Given the description of an element on the screen output the (x, y) to click on. 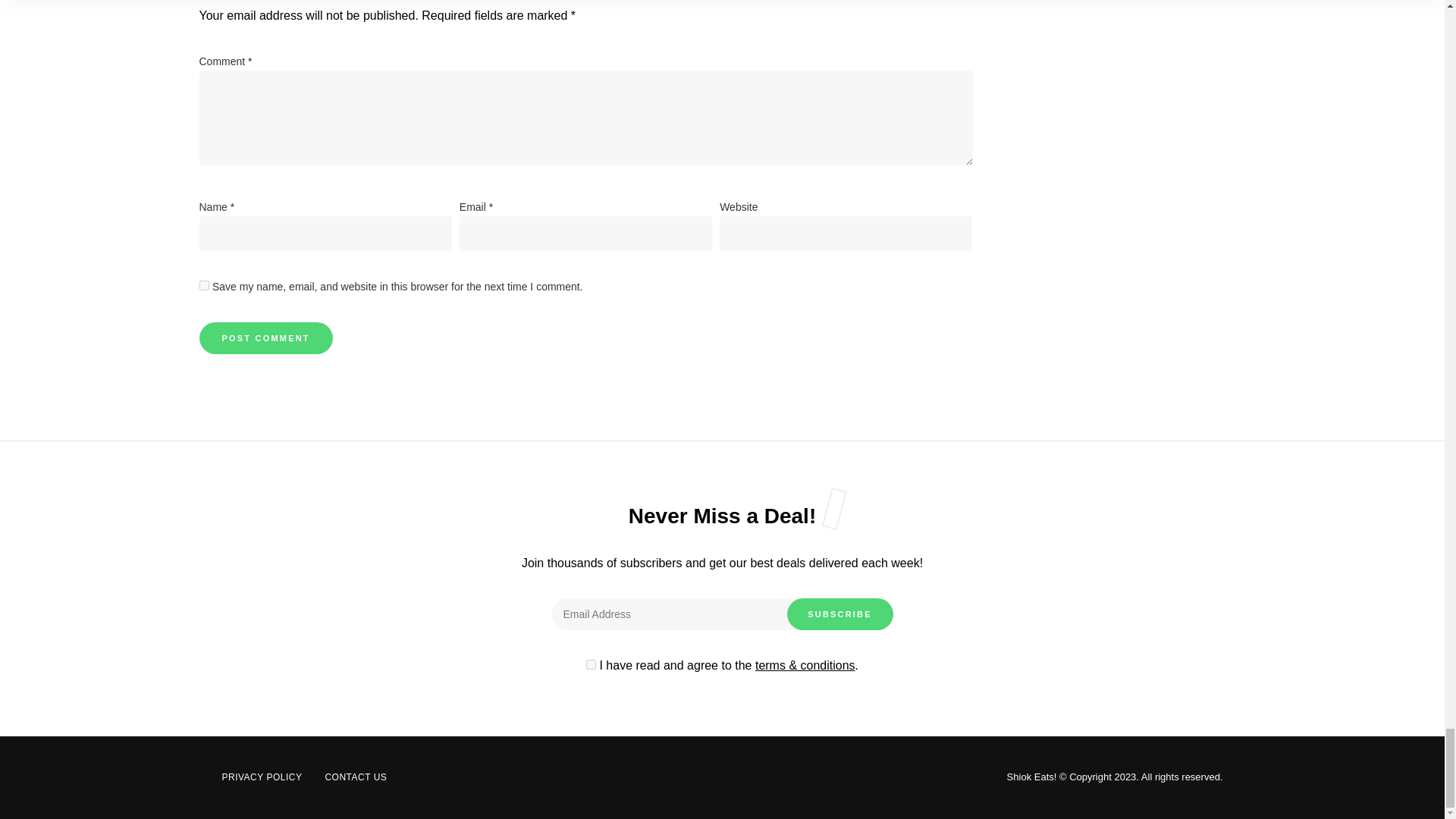
yes (203, 285)
Subscribe (840, 613)
1 (590, 664)
Post Comment (264, 337)
